Given the description of an element on the screen output the (x, y) to click on. 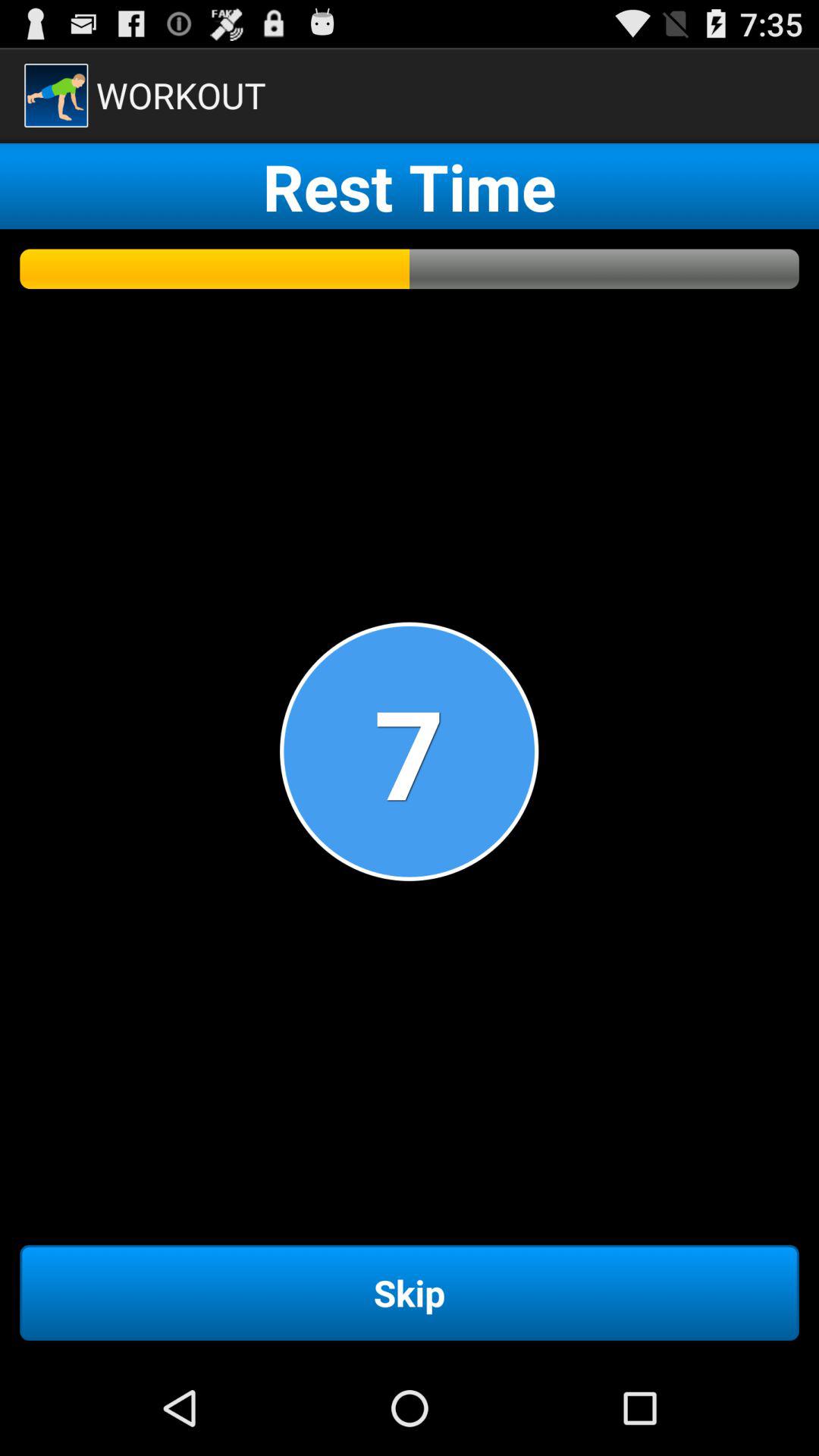
swipe until skip item (409, 1292)
